Given the description of an element on the screen output the (x, y) to click on. 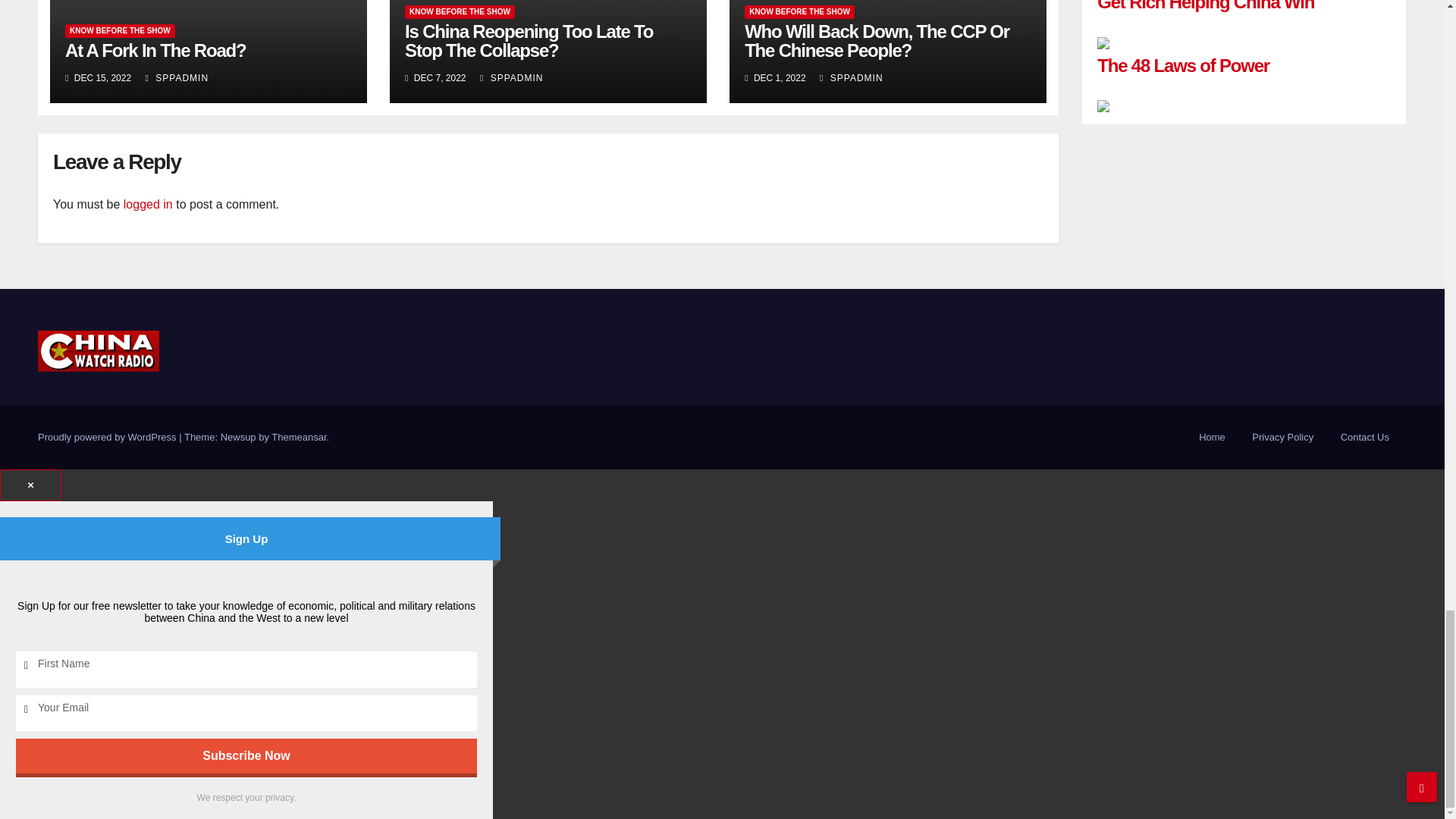
Contact Us (1364, 437)
Home (1211, 437)
Permalink to: At A Fork In The Road? (155, 50)
Subscribe Now (246, 755)
Privacy Policy (1282, 437)
